Given the description of an element on the screen output the (x, y) to click on. 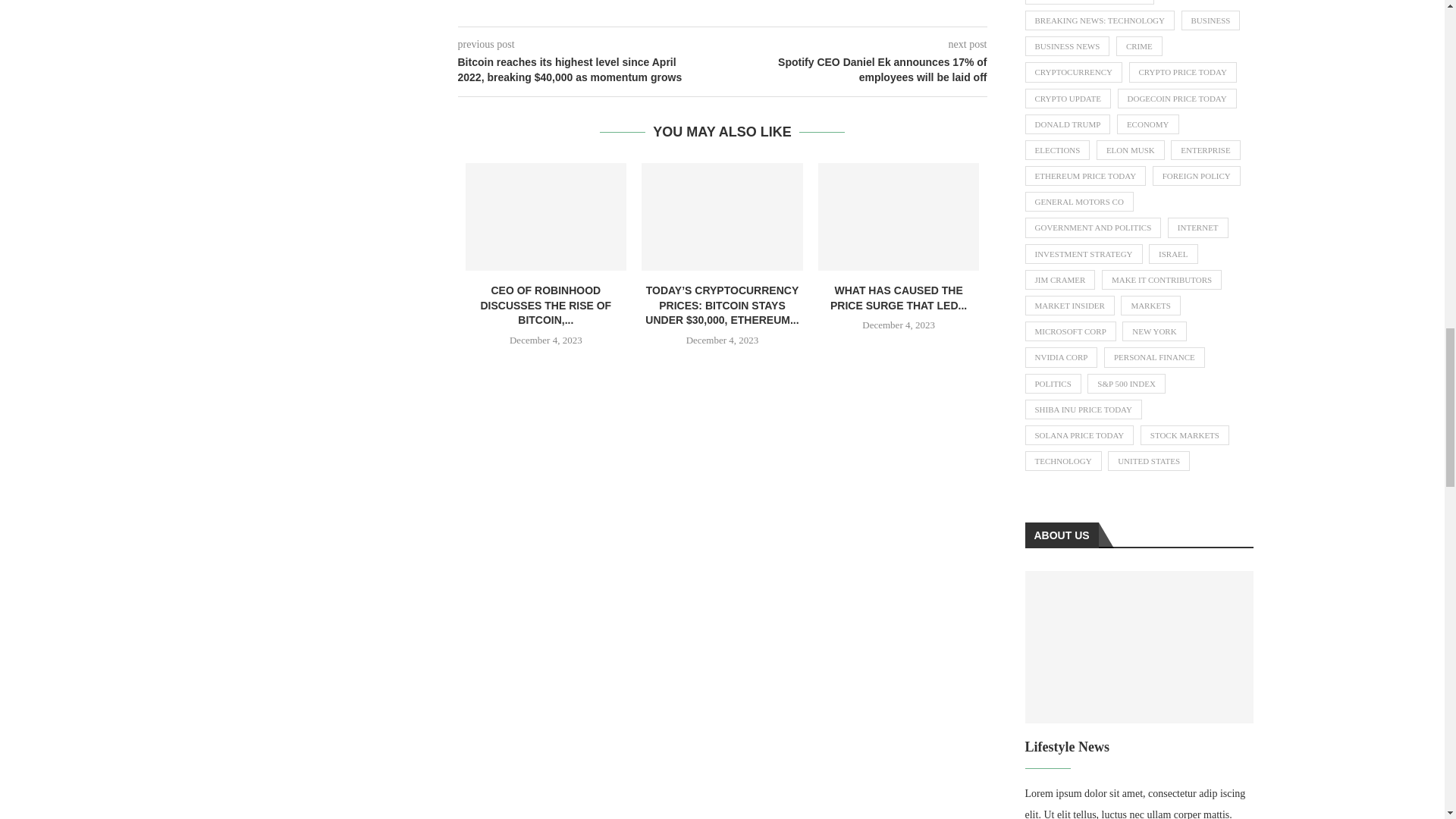
WHAT HAS CAUSED THE PRICE SURGE THAT LED... (897, 298)
CEO OF ROBINHOOD DISCUSSES THE RISE OF BITCOIN,... (545, 304)
